Given the description of an element on the screen output the (x, y) to click on. 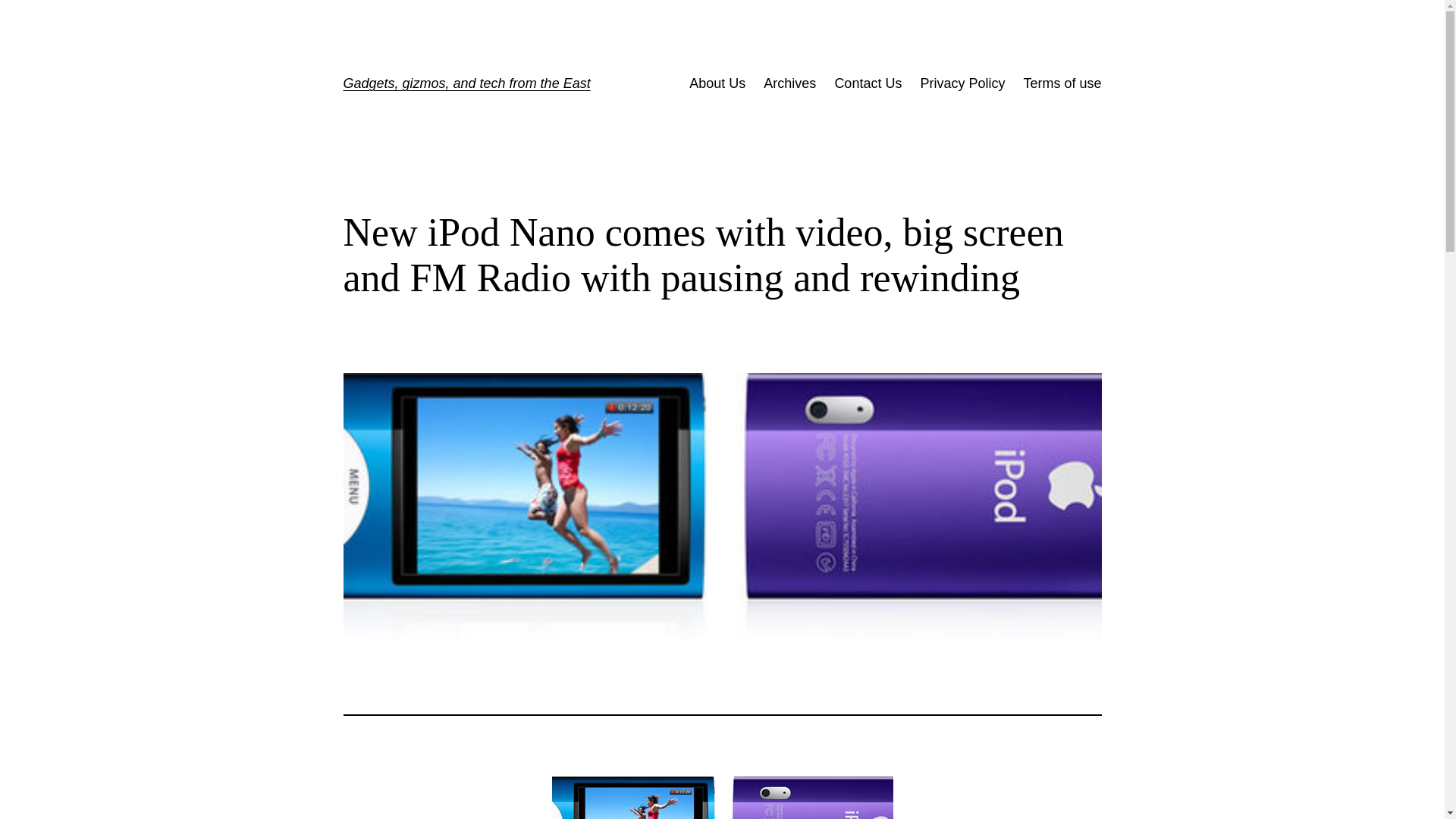
Terms of use (1061, 83)
About Us (716, 83)
Contact Us (867, 83)
Gadgets, gizmos, and tech from the East (465, 83)
Archives (788, 83)
Privacy Policy (962, 83)
